Given the description of an element on the screen output the (x, y) to click on. 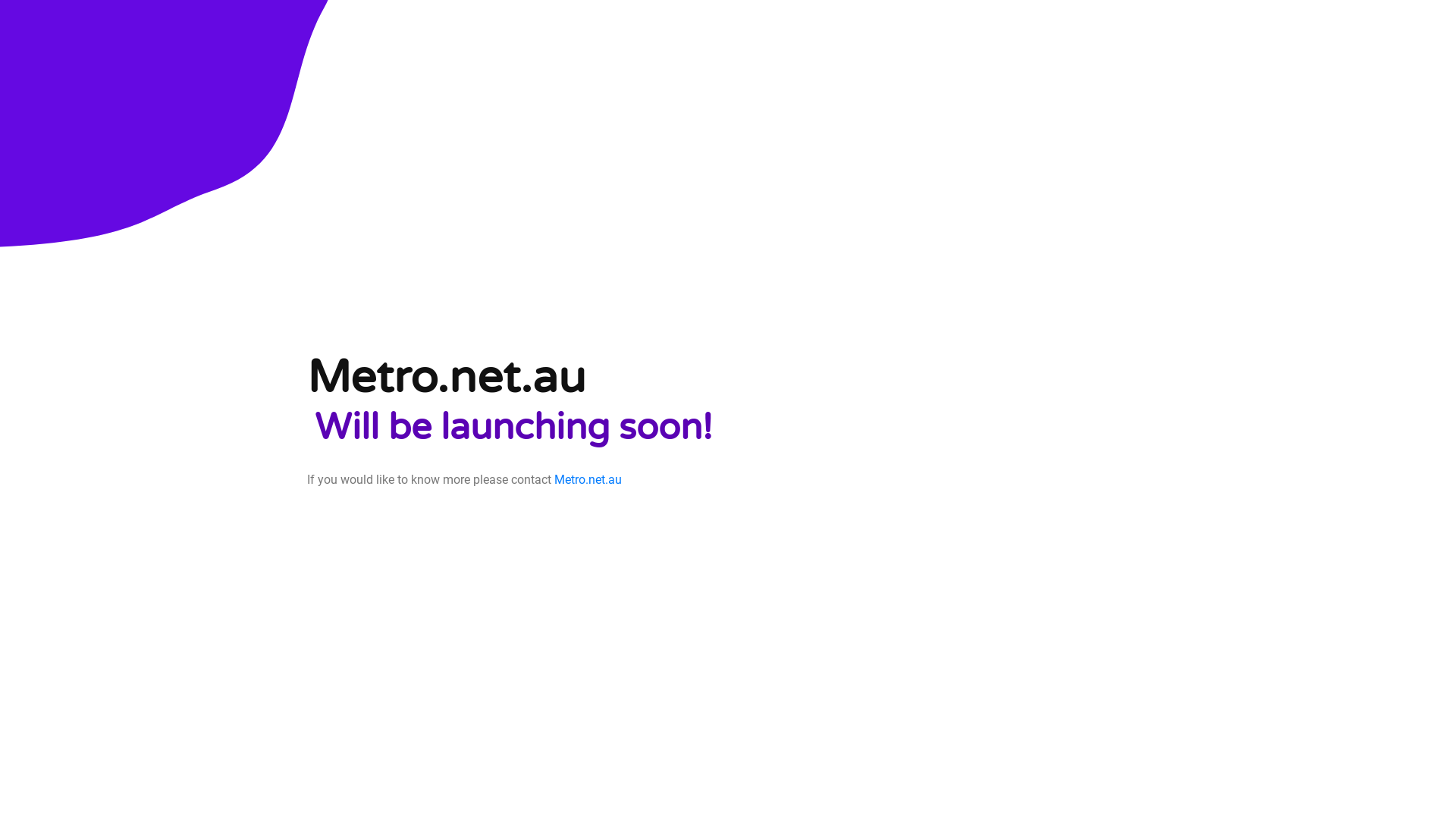
Metro.net.au Element type: text (587, 479)
